Given the description of an element on the screen output the (x, y) to click on. 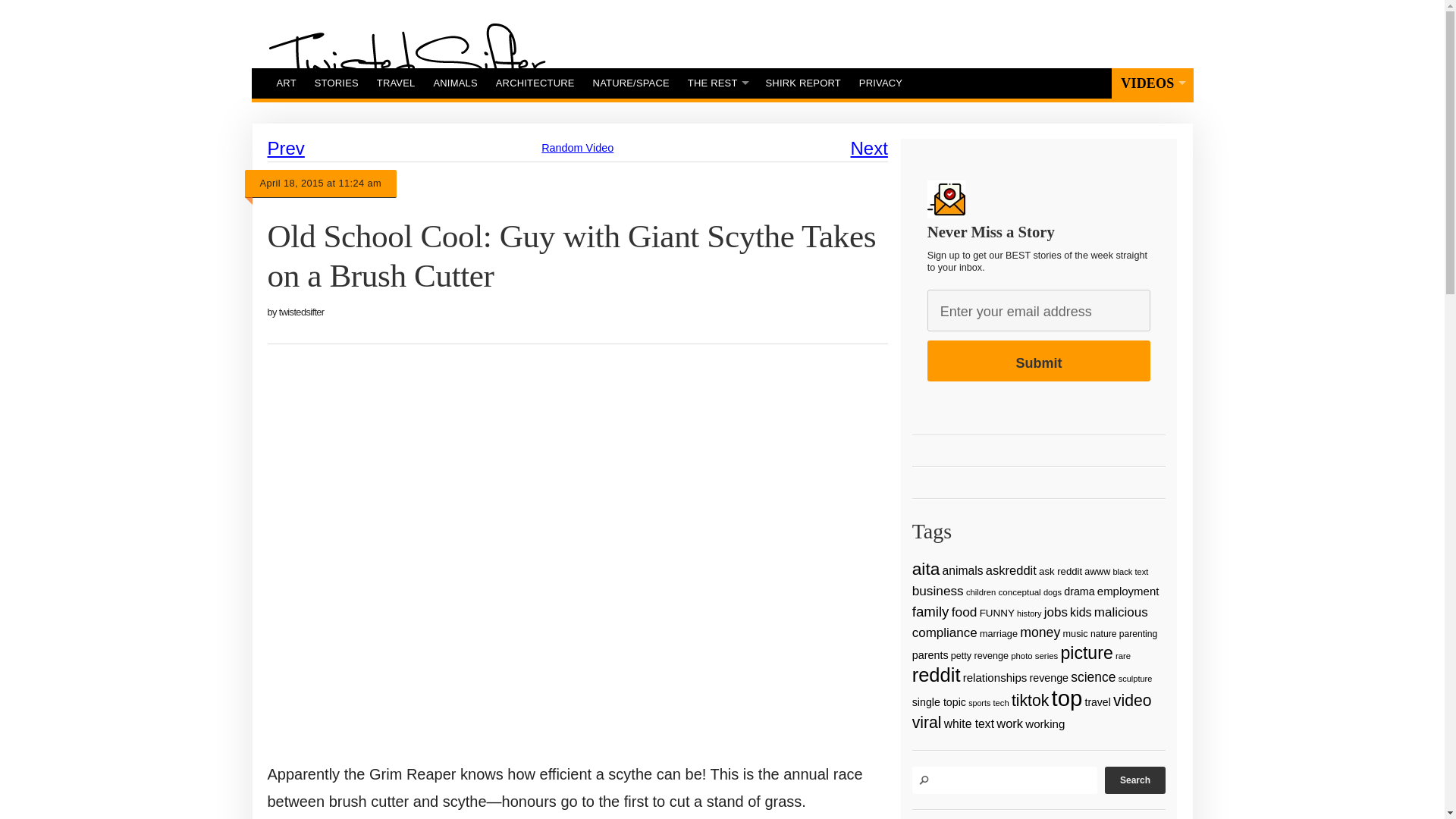
TRAVEL (396, 82)
ART (285, 82)
PRIVACY (880, 82)
Search (1135, 779)
Next (869, 148)
Random Video (576, 147)
STORIES (336, 82)
ARCHITECTURE (534, 82)
SHIRK REPORT (803, 82)
ANIMALS (454, 82)
Submit (1038, 360)
Prev (285, 148)
Home (406, 59)
VIDEOS (1152, 82)
THE REST (717, 82)
